Given the description of an element on the screen output the (x, y) to click on. 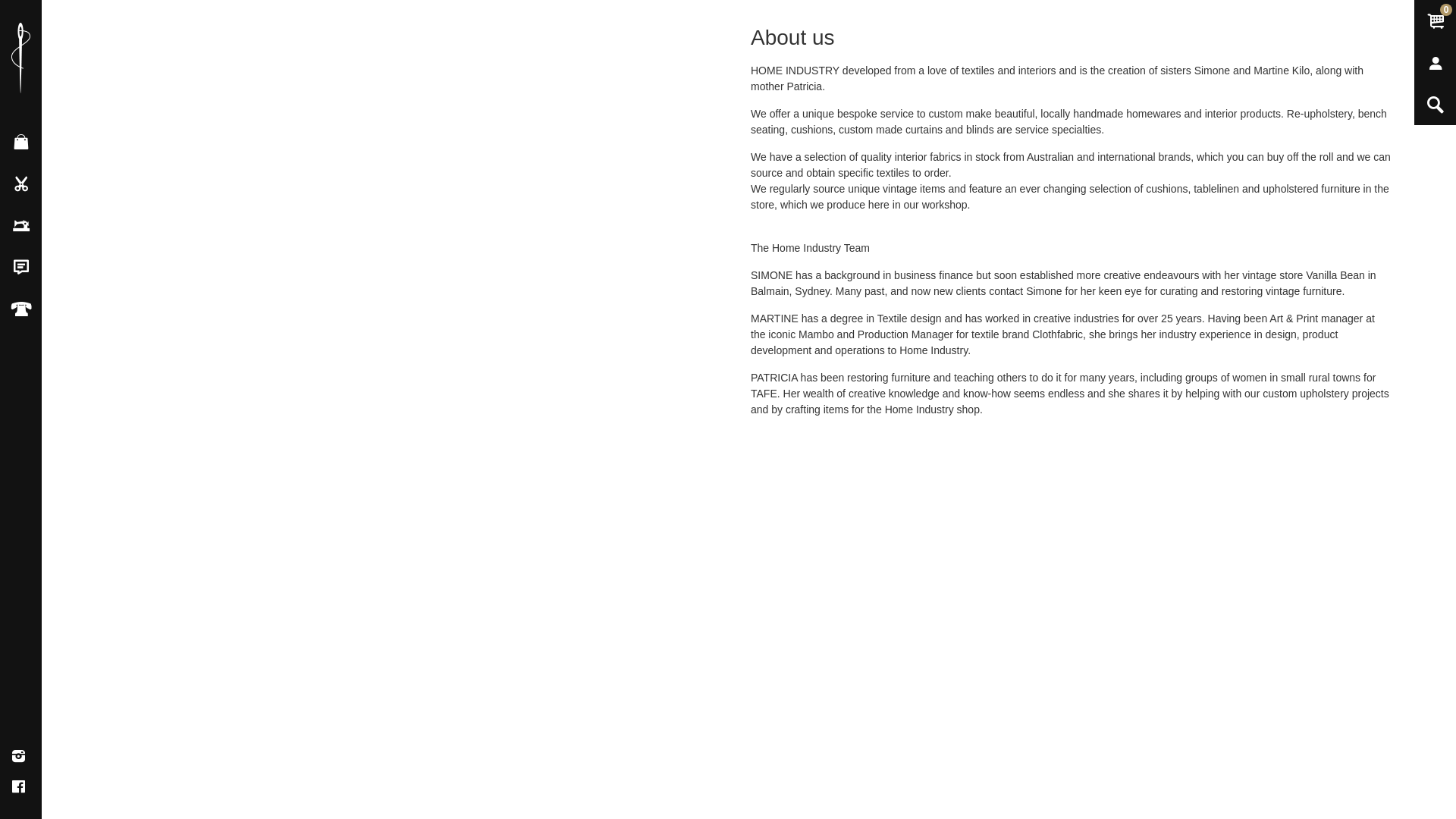
Facebook Element type: text (18, 786)
Instagram Element type: text (18, 756)
